Given the description of an element on the screen output the (x, y) to click on. 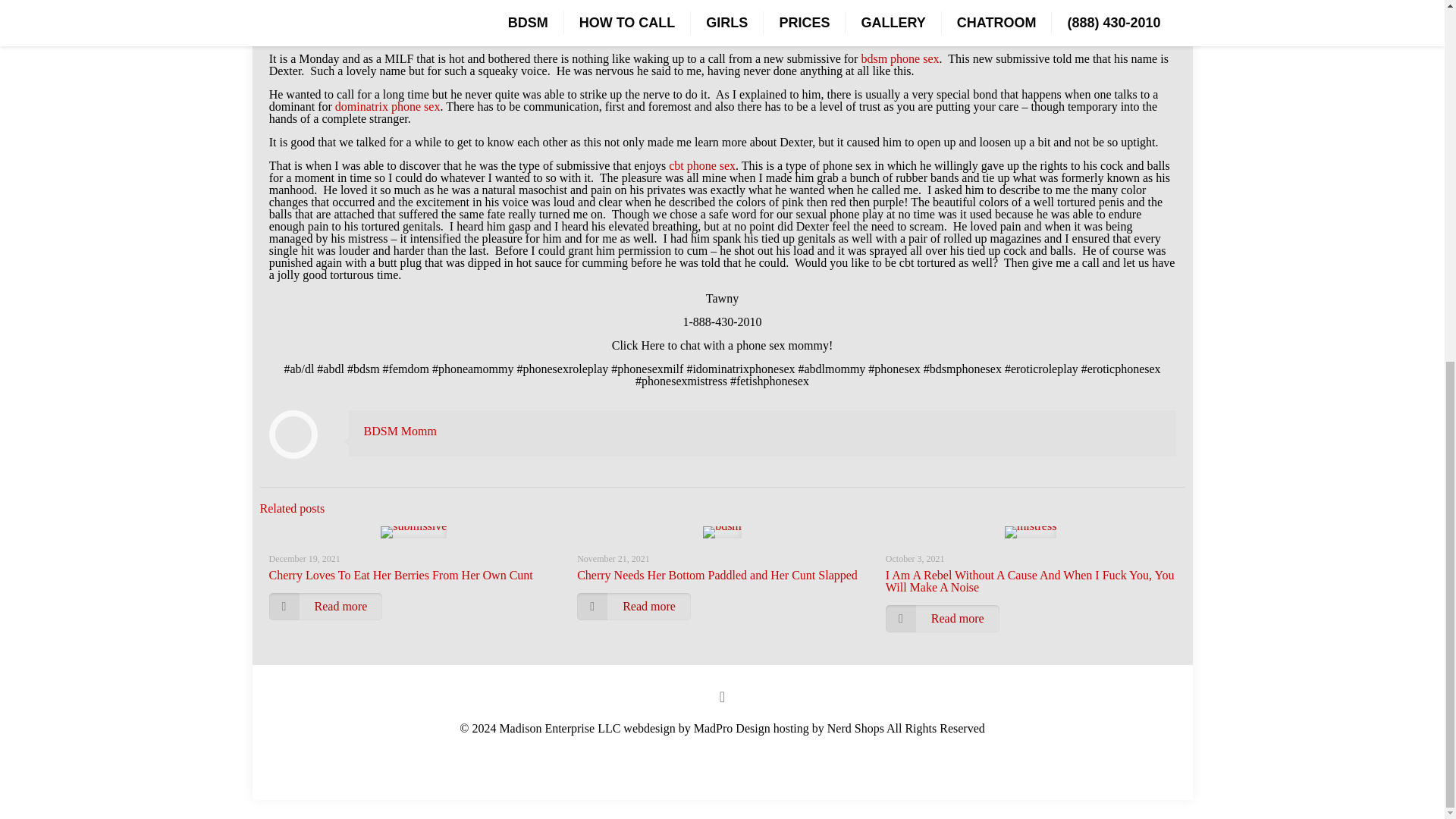
RSS (722, 748)
bdsm phone sex (899, 58)
Cherry Loves To Eat Her Berries From Her Own Cunt (399, 574)
dominatrix phone sex (387, 106)
cbt phone sex (701, 164)
BDSM Momm (400, 431)
